Given the description of an element on the screen output the (x, y) to click on. 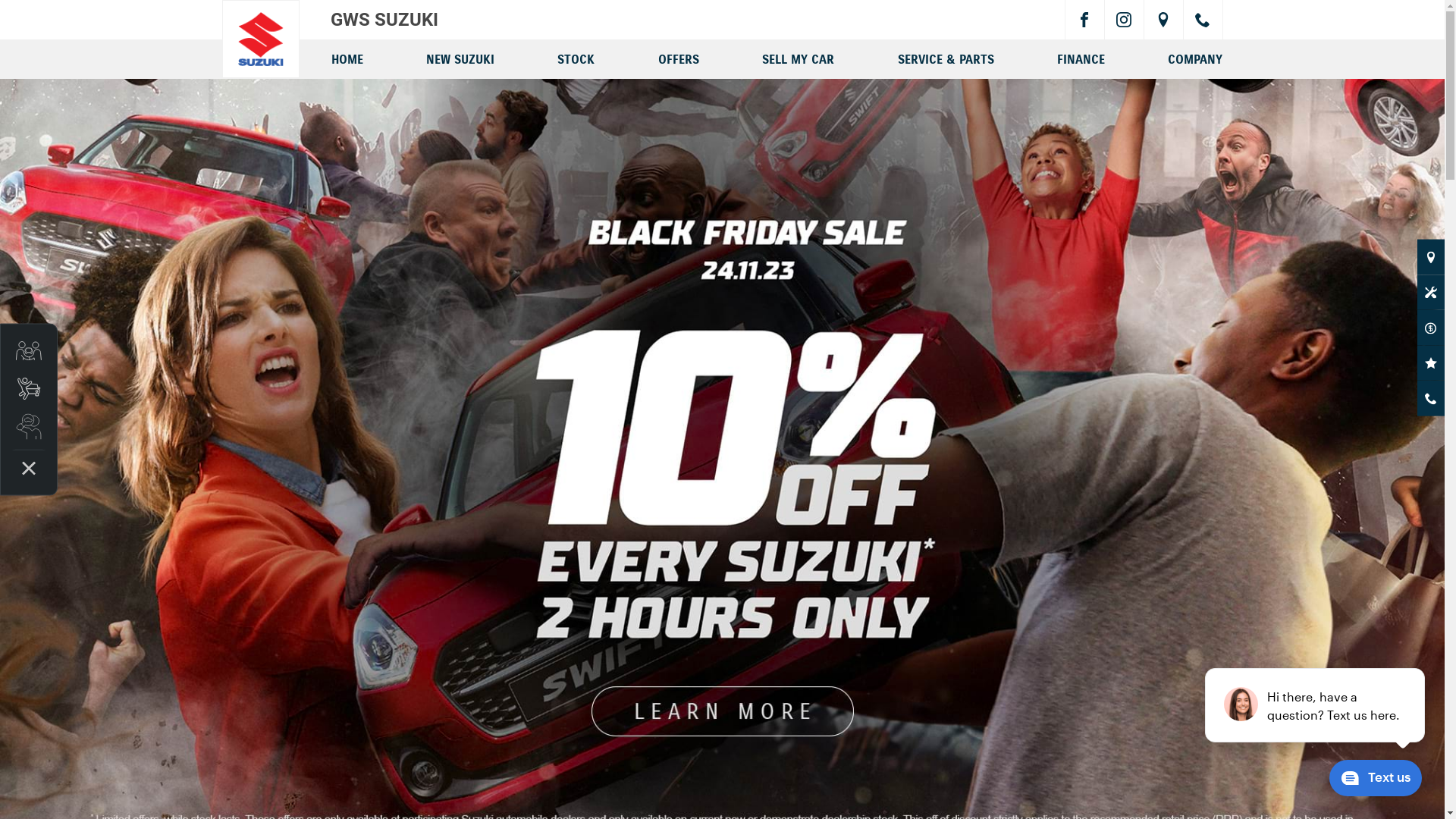
HOME Element type: text (346, 57)
NEW SUZUKI Element type: text (460, 57)
SELL MY CAR Element type: text (797, 57)
SERVICE & PARTS Element type: text (945, 57)
COMPANY Element type: text (1194, 57)
podium webchat widget prompt Element type: hover (1315, 705)
OFFERS Element type: text (678, 57)
STOCK Element type: text (575, 57)
FINANCE Element type: text (1080, 57)
